Given the description of an element on the screen output the (x, y) to click on. 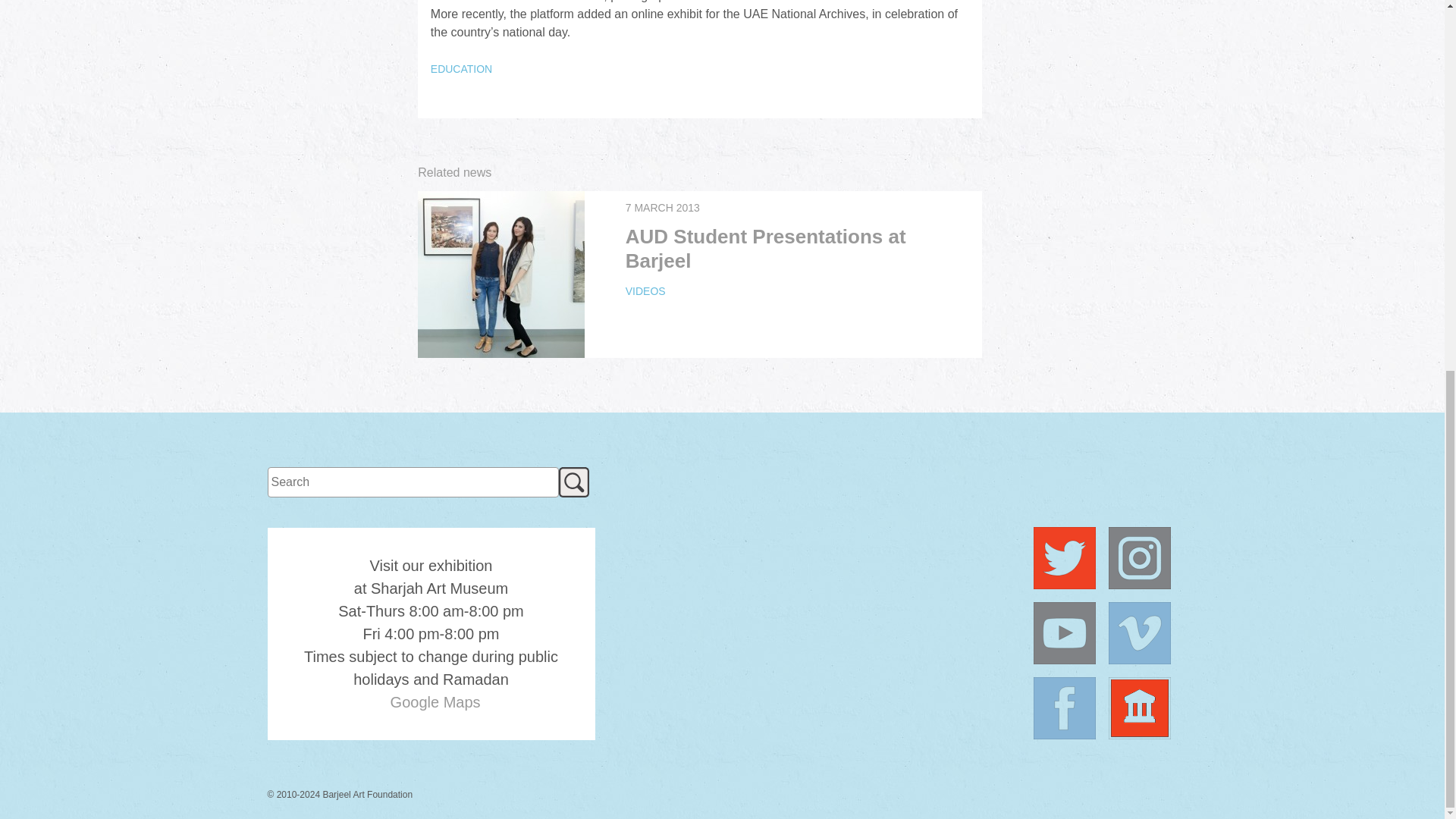
Google Maps (435, 701)
AUD Student Presentations at Barjeel (765, 248)
EDUCATION (461, 68)
VIDEOS (645, 291)
Search (572, 481)
Search (572, 481)
